Given the description of an element on the screen output the (x, y) to click on. 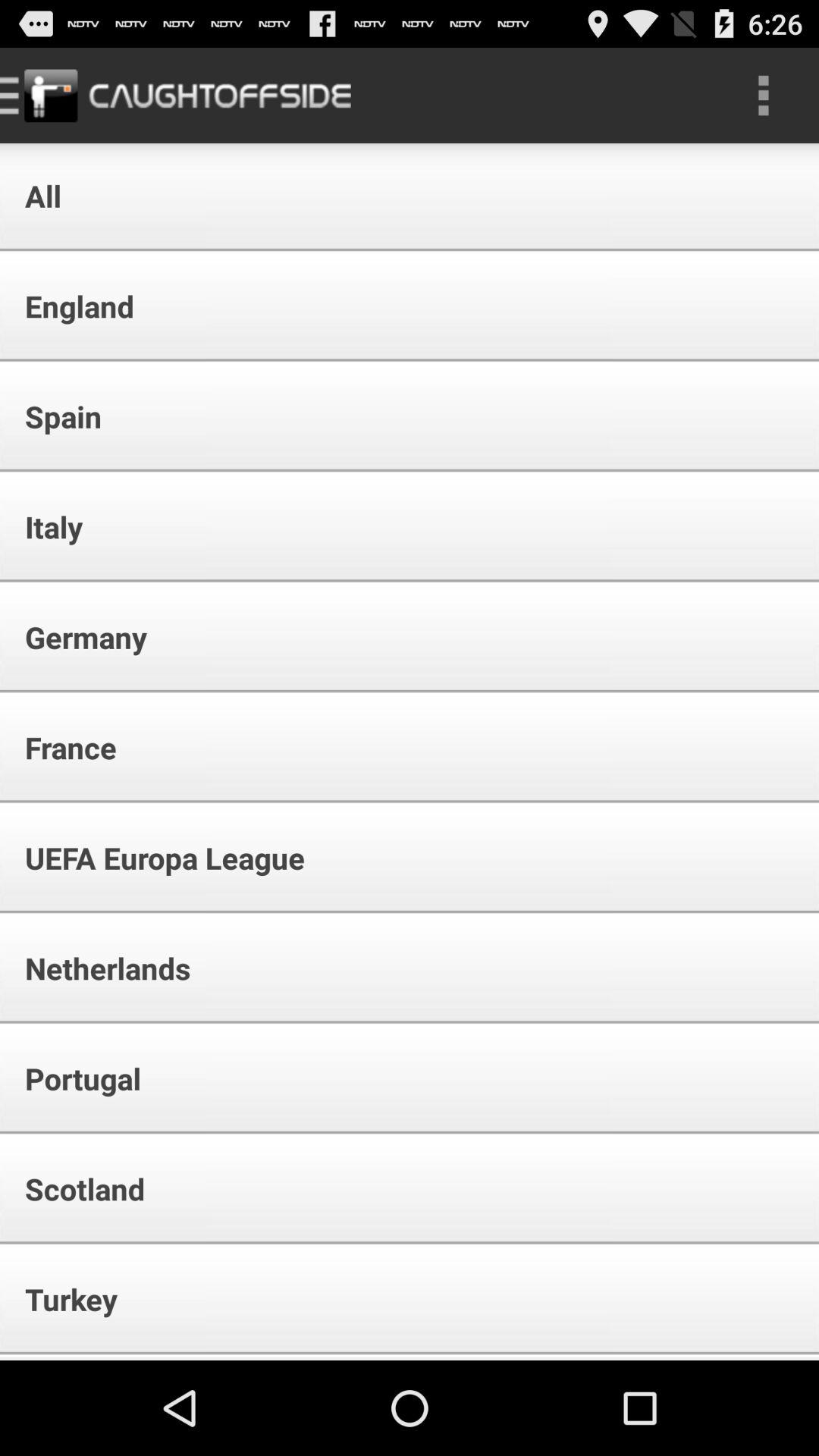
turn off the item below all app (69, 306)
